Given the description of an element on the screen output the (x, y) to click on. 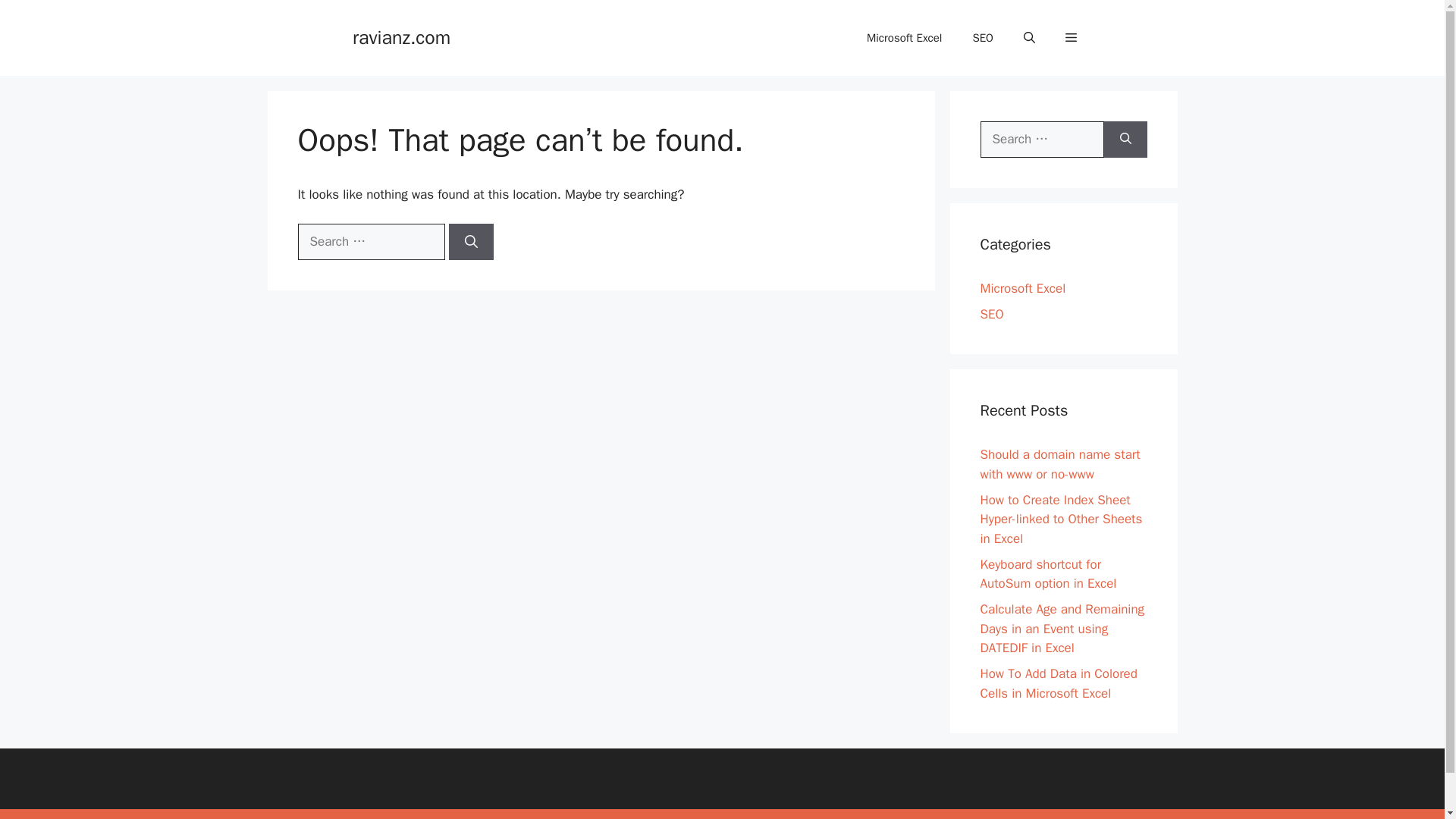
How To Add Data in Colored Cells in Microsoft Excel (1058, 683)
SEO (982, 37)
Search for: (1041, 139)
Microsoft Excel (1022, 288)
Microsoft Excel (903, 37)
Keyboard shortcut for AutoSum option in Excel (1047, 574)
ravianz.com (400, 37)
Search for: (370, 241)
